Given the description of an element on the screen output the (x, y) to click on. 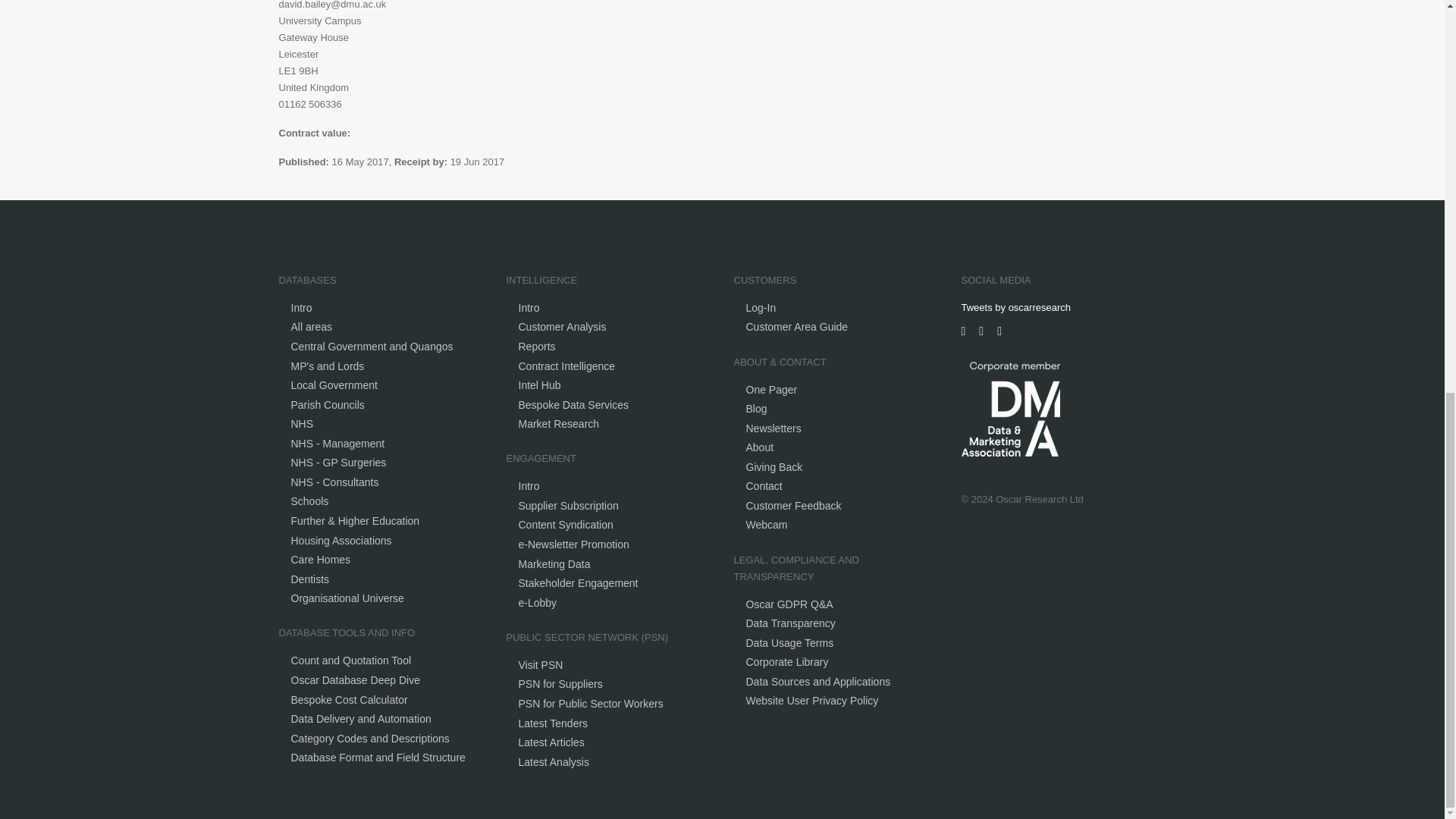
NHS (302, 423)
NHS - Management (338, 443)
Parish Councils (328, 404)
All areas (311, 326)
NHS - Consultants (334, 481)
Local Government (334, 385)
Central Government and Quangos (371, 346)
Intro (302, 307)
MP's and Lords (328, 366)
NHS - GP Surgeries (339, 462)
